Given the description of an element on the screen output the (x, y) to click on. 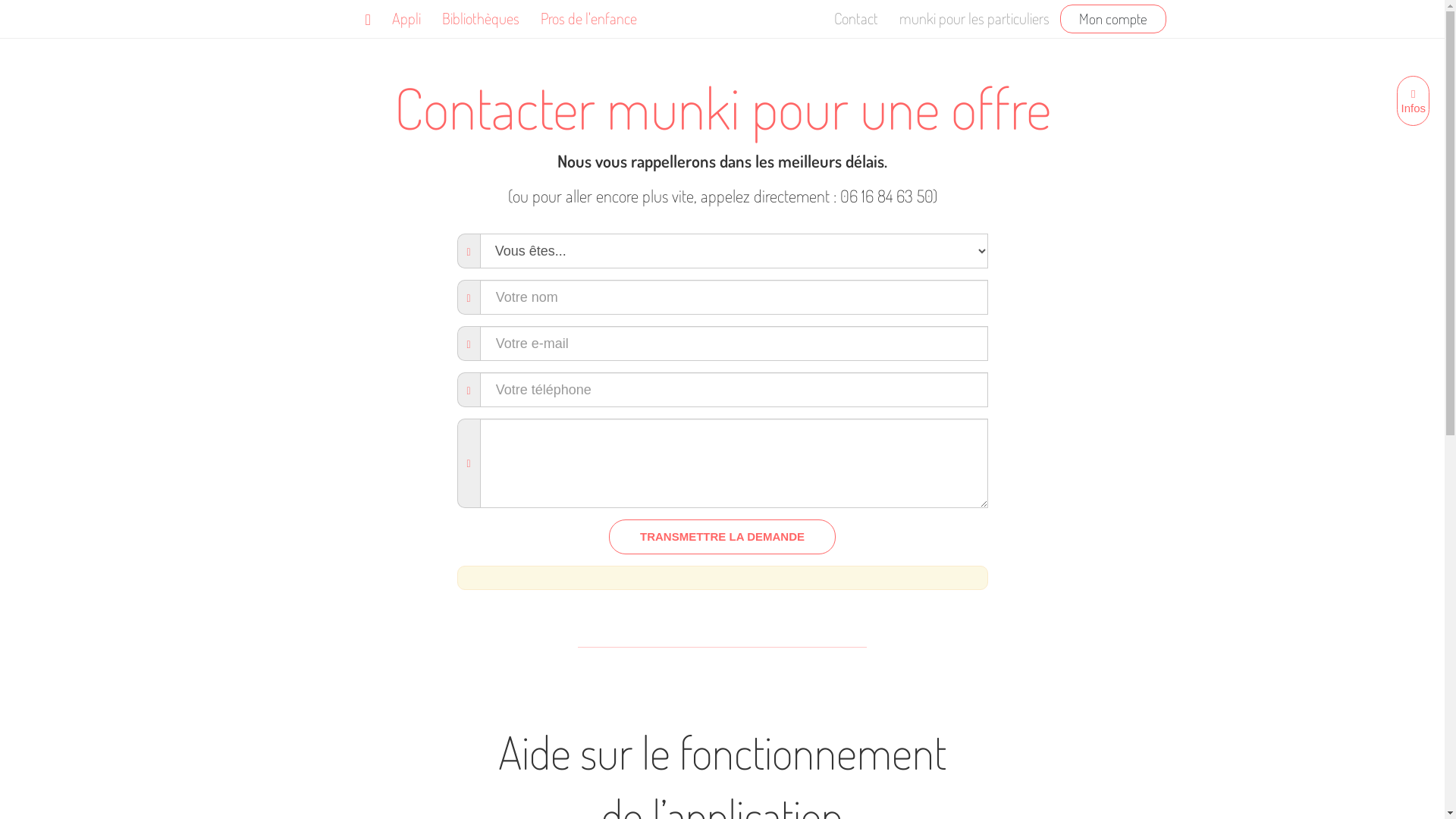
Appli Element type: text (406, 17)
Contact Element type: text (855, 17)
Infos Element type: text (1412, 100)
Pros de l'enfance Element type: text (588, 17)
Transmettre la demande Element type: text (721, 536)
Mon compte Element type: text (1113, 18)
munki pour les particuliers Element type: text (974, 17)
